Given the description of an element on the screen output the (x, y) to click on. 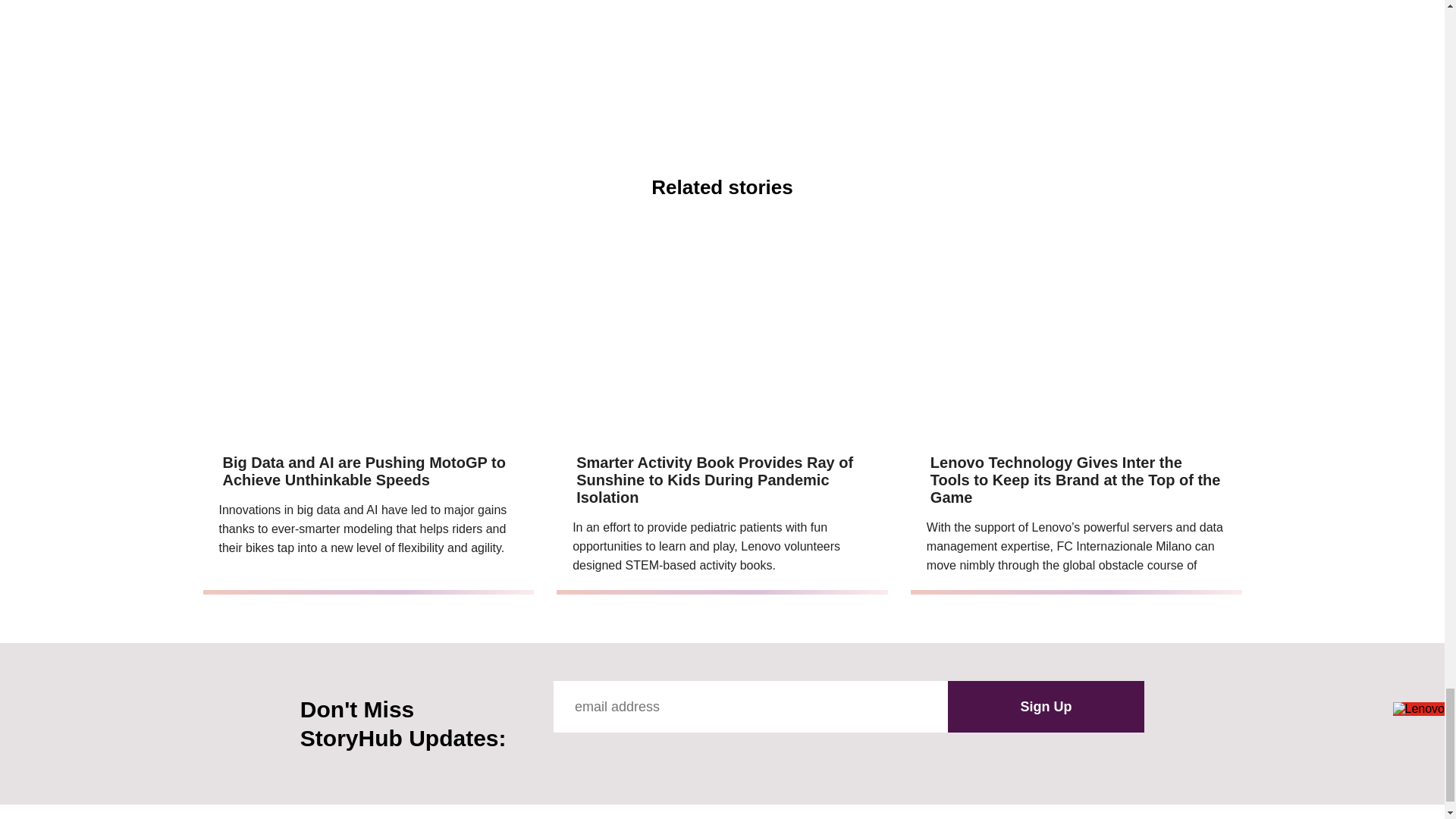
LinkedIn (701, 754)
Sign Up (1045, 706)
Learn more about our AI-powered transformation. (854, 83)
Youtube (633, 754)
Instagram (667, 754)
Twitter (599, 754)
Facebook (564, 754)
Sign Up (1045, 706)
